Given the description of an element on the screen output the (x, y) to click on. 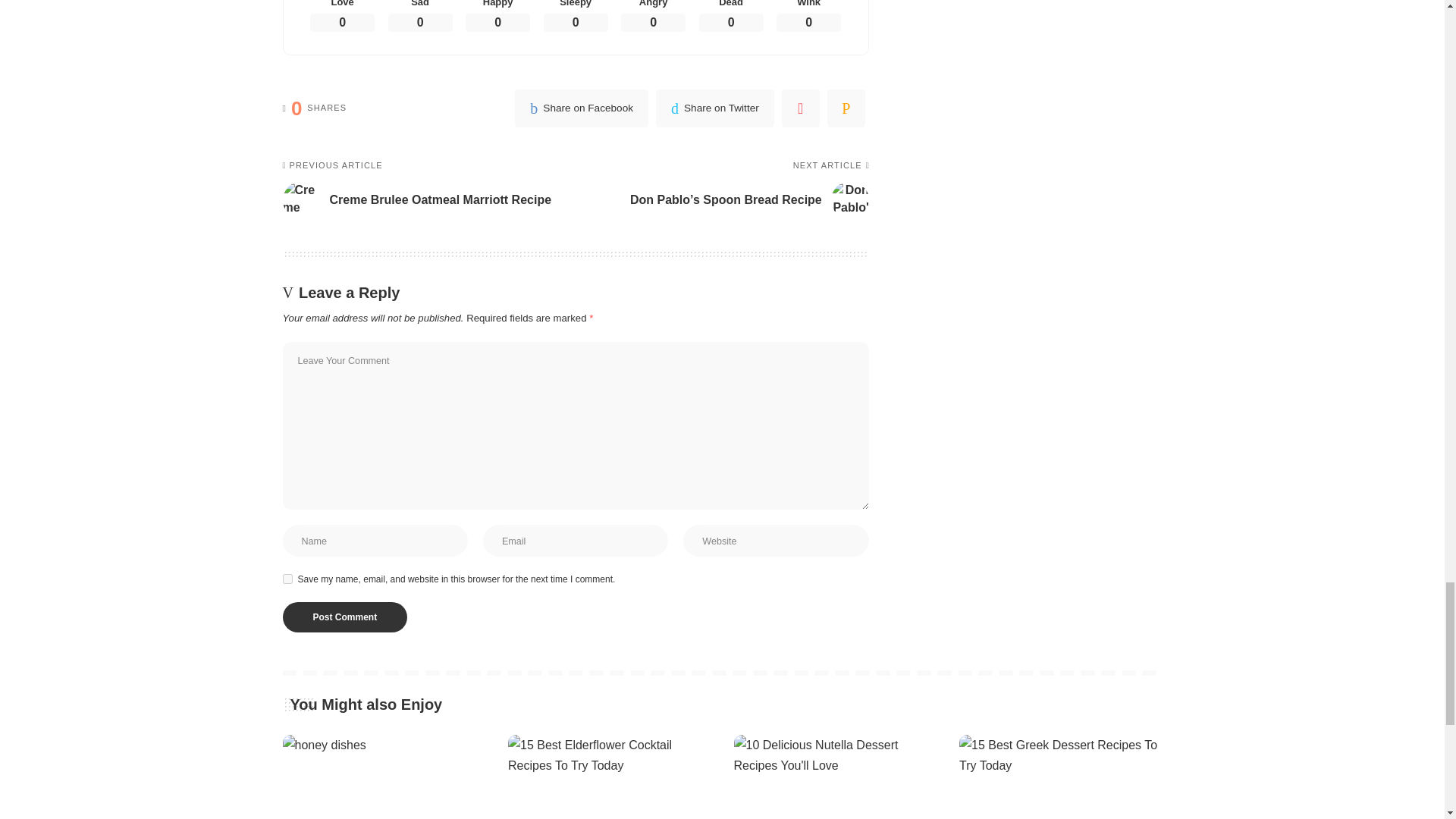
Post Comment (344, 616)
yes (287, 578)
